Given the description of an element on the screen output the (x, y) to click on. 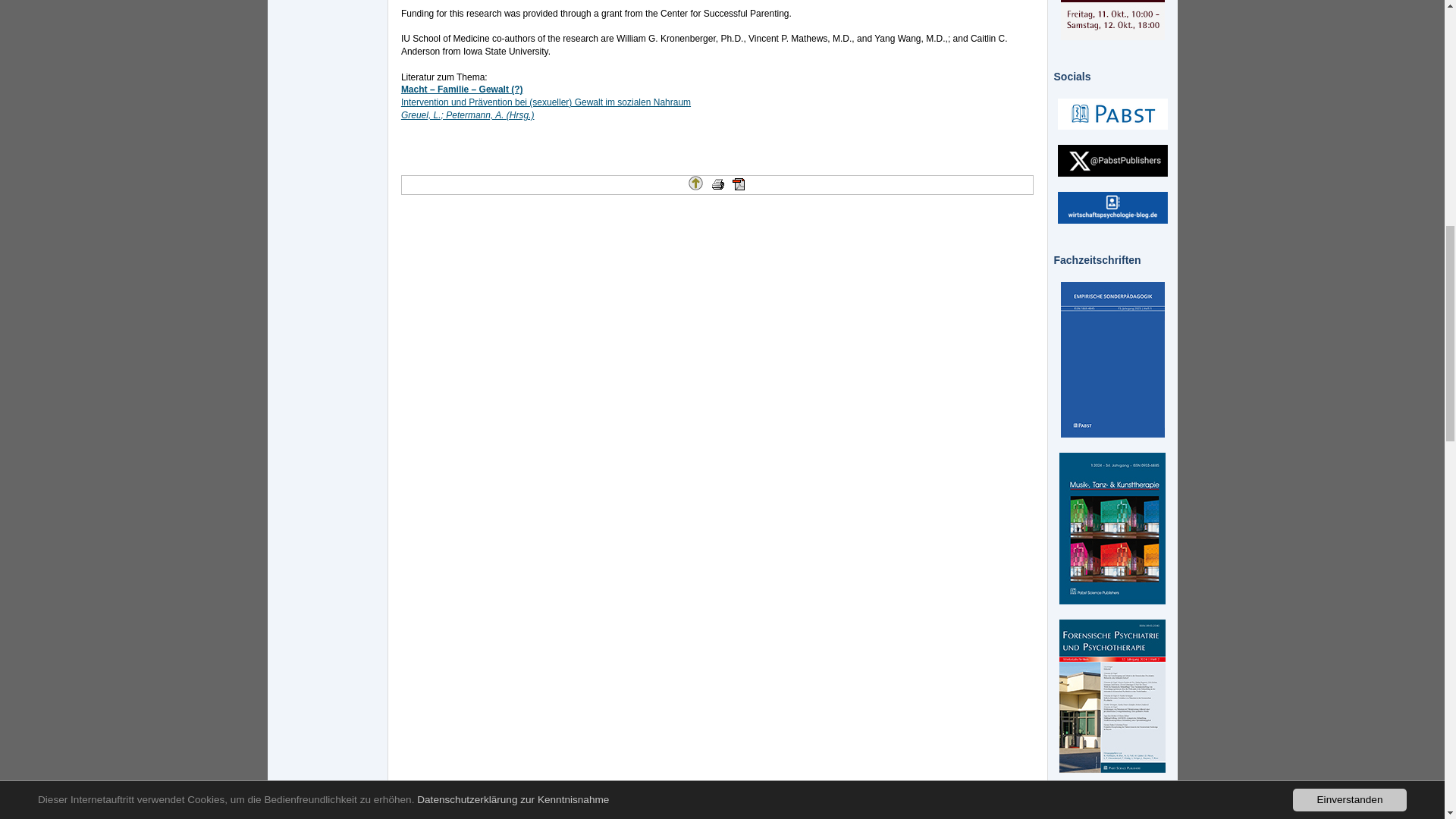
nach oben (695, 183)
Open external link in new window (545, 102)
